Given the description of an element on the screen output the (x, y) to click on. 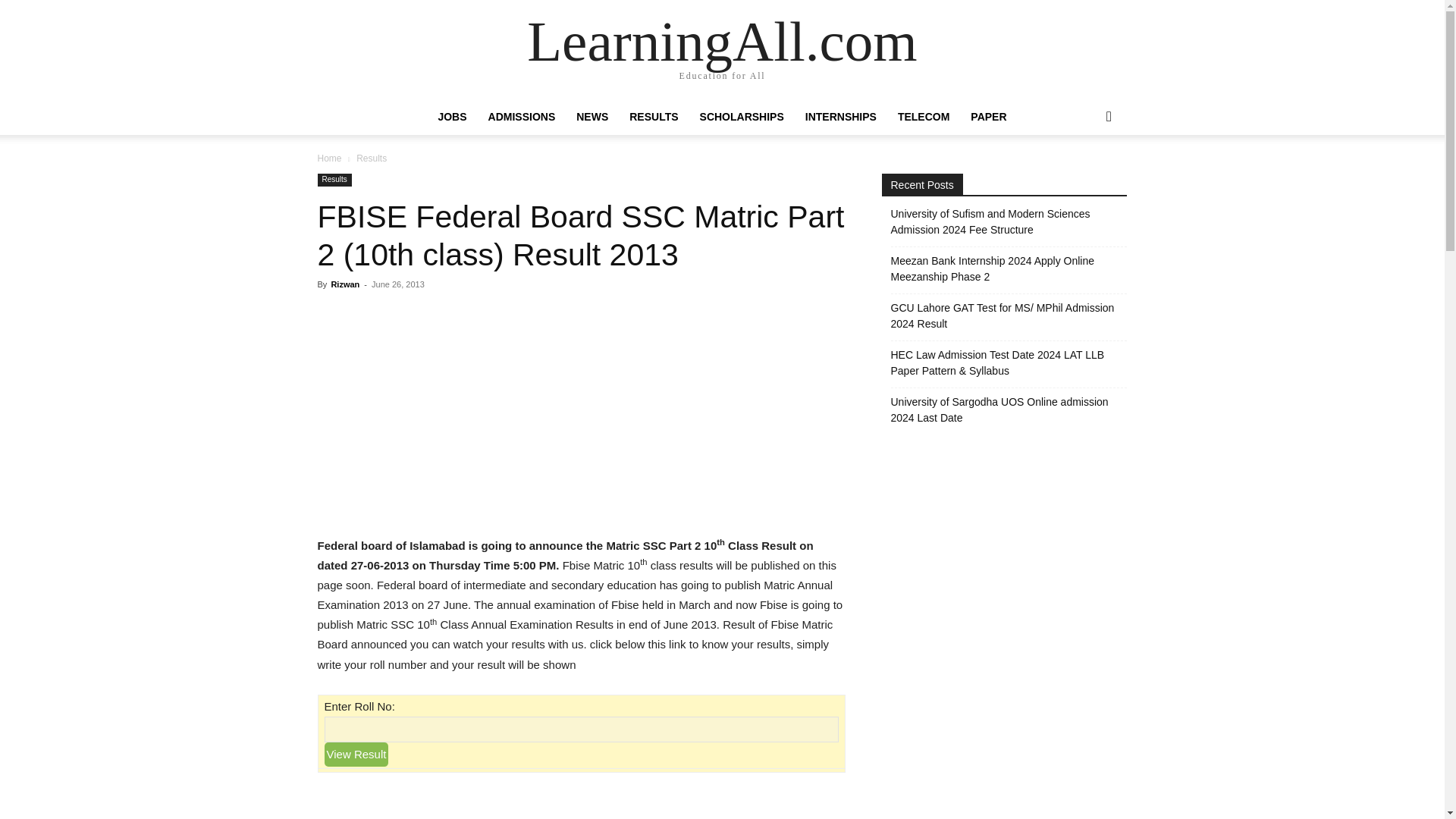
LearningAll.com Education for All (720, 50)
Home (328, 158)
Results (333, 179)
RESULTS (653, 116)
TELECOM (922, 116)
JOBS (451, 116)
ADMISSIONS (521, 116)
Advertisement (579, 413)
PAPER (987, 116)
View Result (356, 754)
Rizwan (344, 284)
NEWS (592, 116)
INTERNSHIPS (840, 116)
SCHOLARSHIPS (741, 116)
Search (1085, 177)
